Given the description of an element on the screen output the (x, y) to click on. 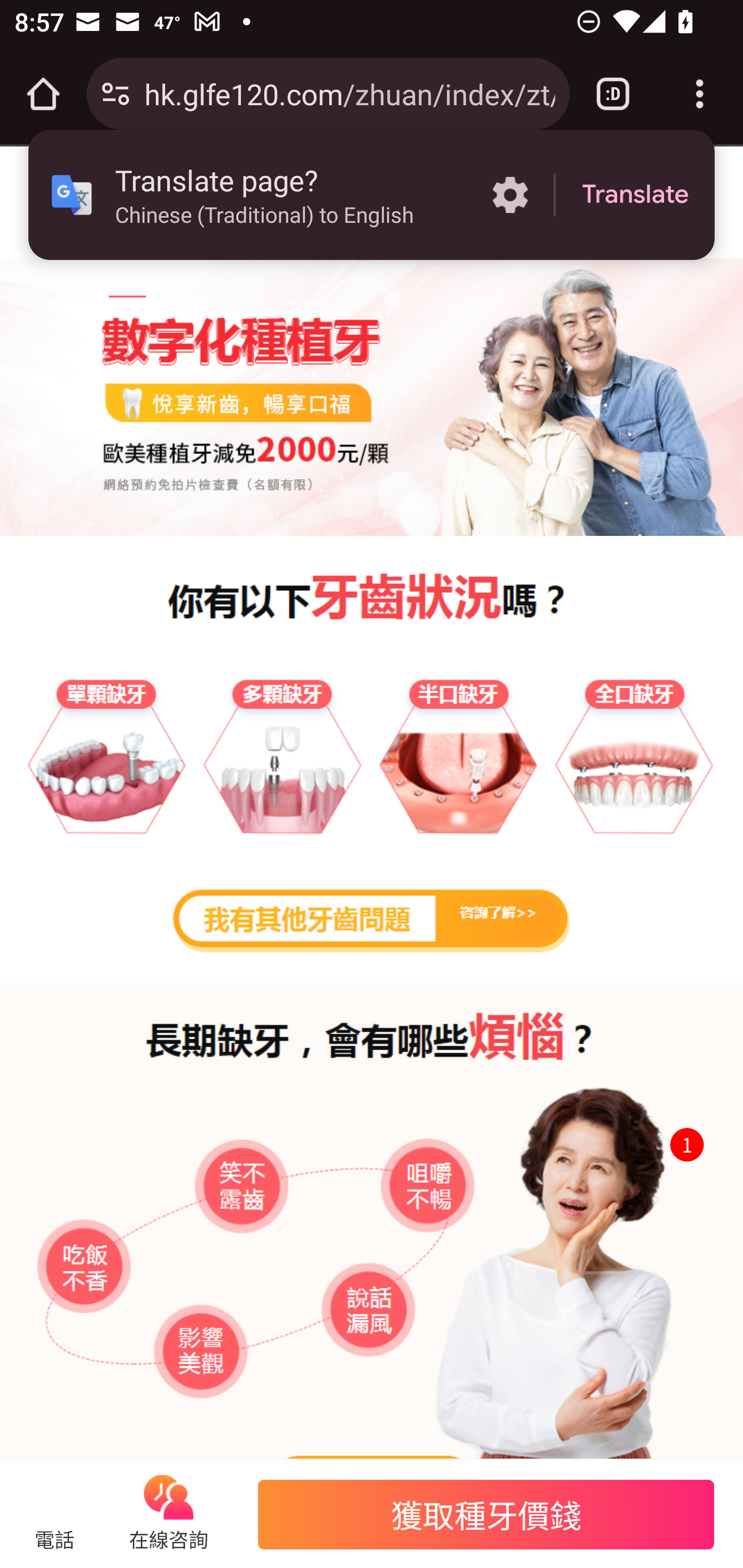
Open the home page (43, 93)
Connection is secure (115, 93)
Switch or close tabs (612, 93)
Customize and control Google Chrome (699, 93)
Translate (634, 195)
More options in the Translate page? (509, 195)
javascript:lrminiMax(); (168, 1499)
獲取種牙價錢 (485, 1514)
電話 (54, 1538)
在線咨詢 (168, 1538)
